Given the description of an element on the screen output the (x, y) to click on. 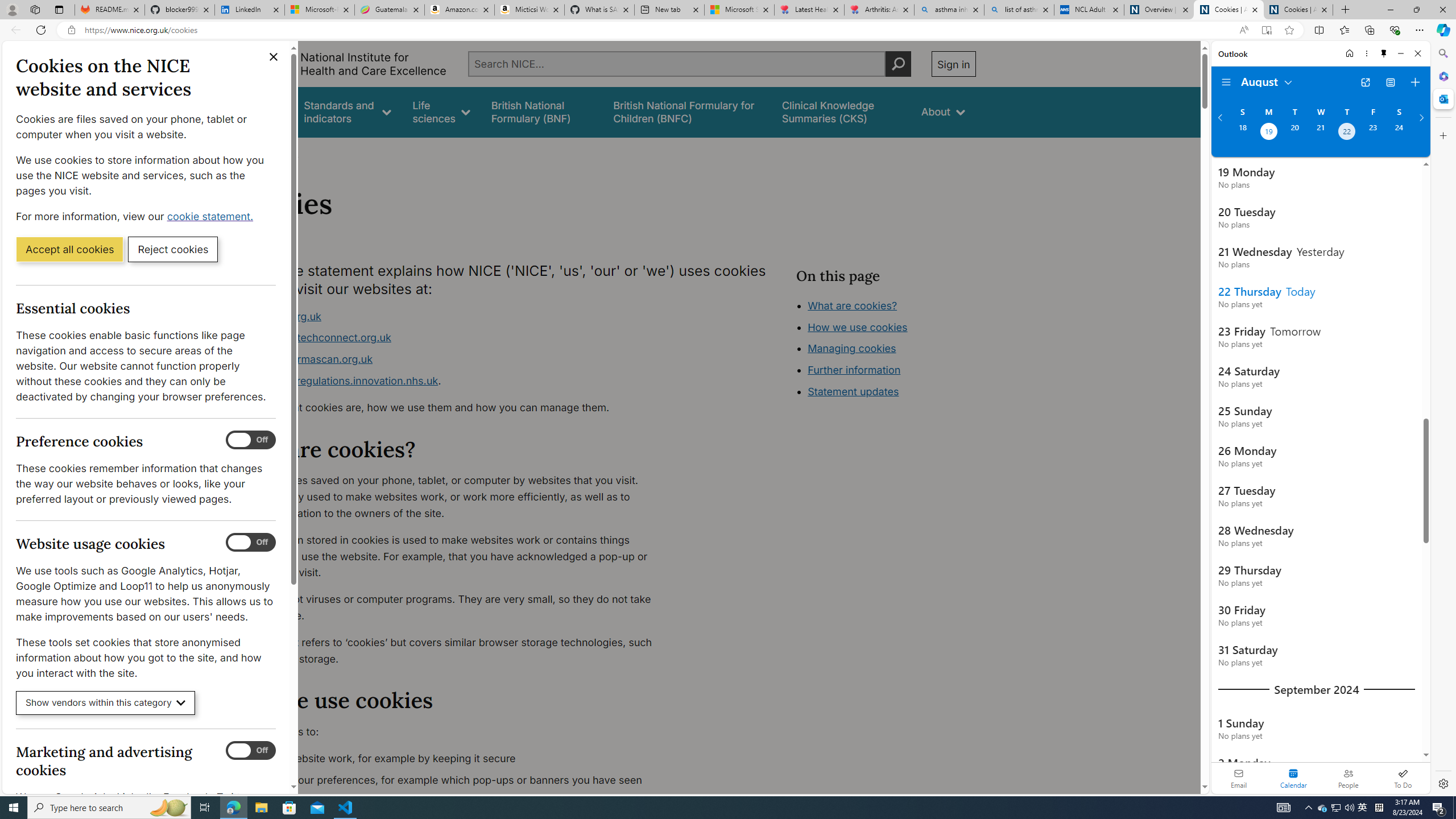
Minimize (1401, 53)
Settings (1442, 783)
Show vendors within this category (105, 703)
Restore (1416, 9)
Close Customize pane (1442, 135)
Guidance (260, 111)
Address and search bar (658, 29)
To Do (1402, 777)
Home (241, 152)
Saturday, August 24, 2024.  (1399, 132)
false (841, 111)
Close cookie banner (273, 56)
